Given the description of an element on the screen output the (x, y) to click on. 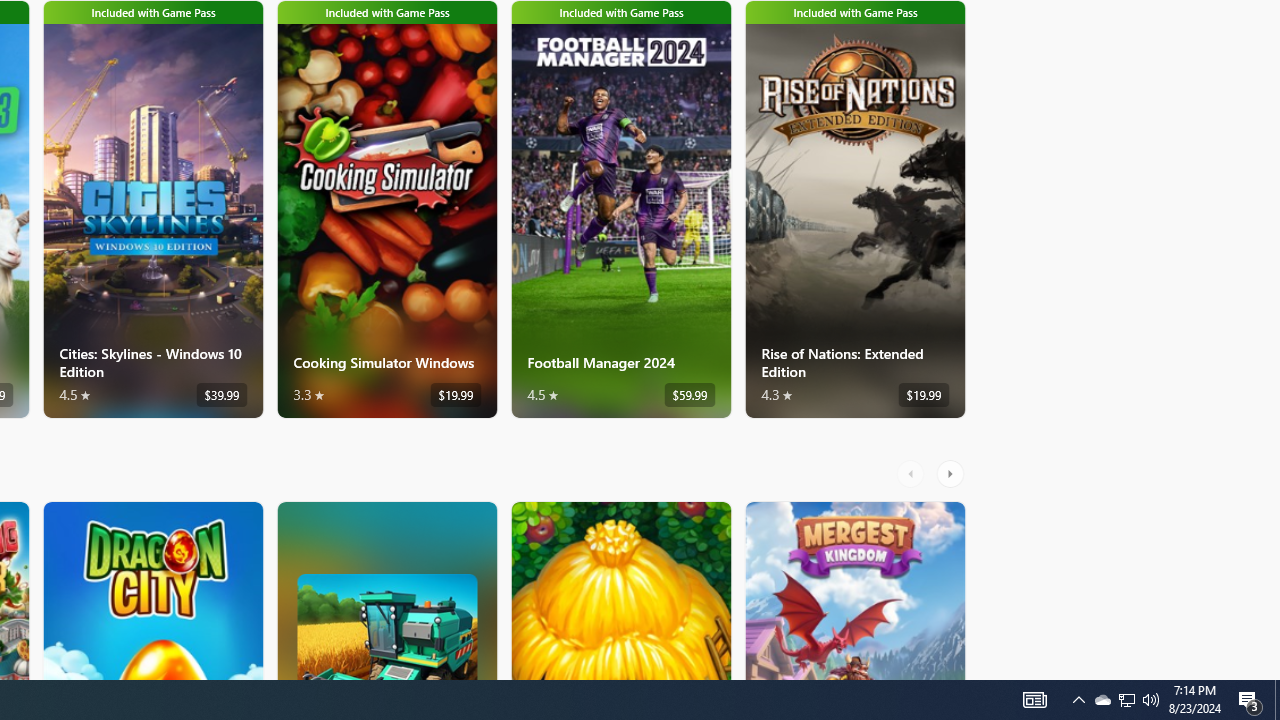
The Tribez. Average rating of 4.6 out of five stars. Free   (620, 590)
Dragon City. Average rating of 4.5 out of five stars. Free   (152, 590)
AutomationID: RightScrollButton (952, 473)
AutomationID: LeftScrollButton (913, 473)
